Given the description of an element on the screen output the (x, y) to click on. 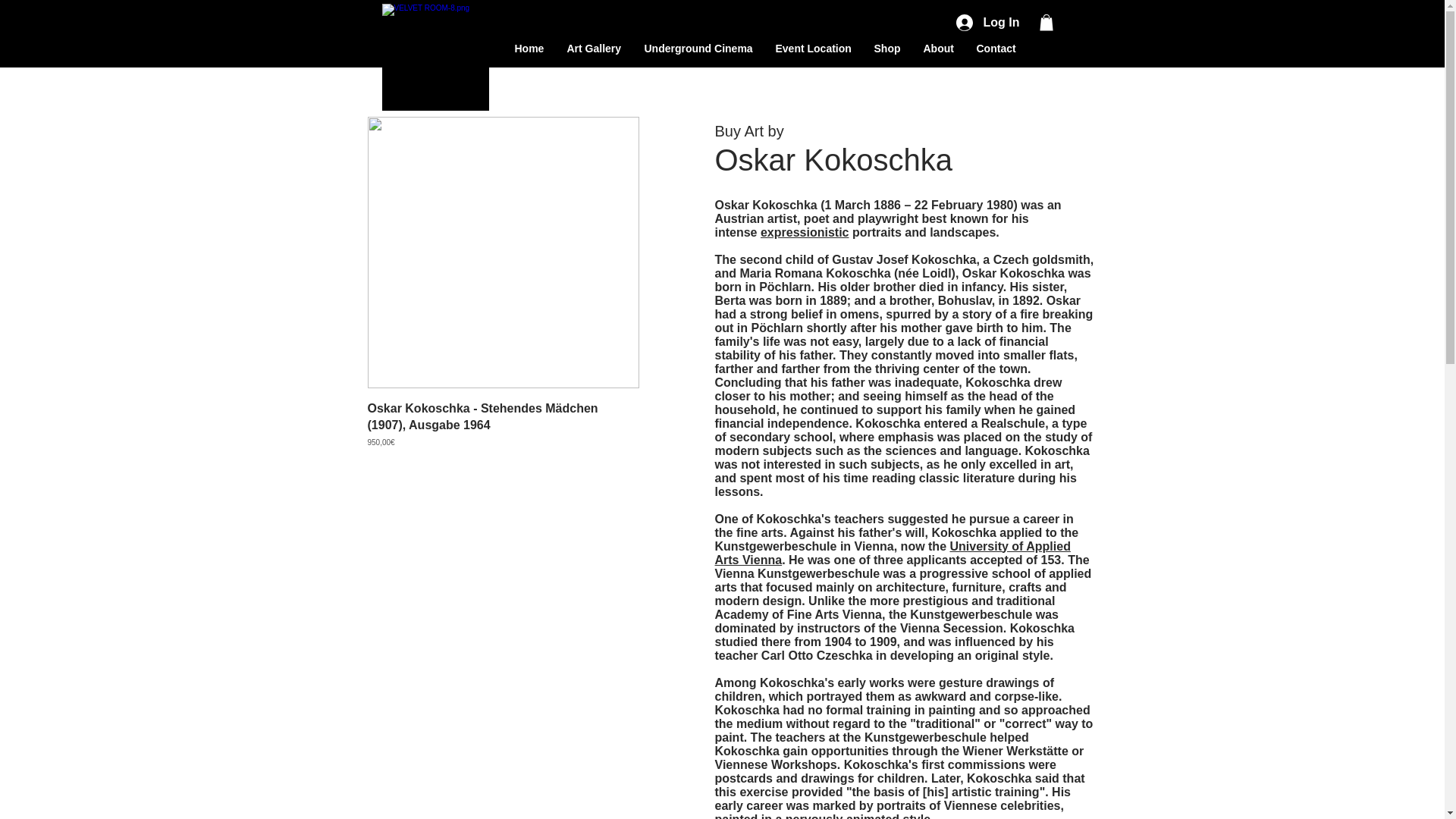
Shop (887, 47)
Home (529, 47)
Event Location (813, 47)
Underground Cinema (696, 47)
VELVET ROOM-2.png (435, 56)
University of Applied Arts Vienna (892, 552)
Art Gallery (592, 47)
Contact (994, 47)
expressionistic (804, 232)
Log In (985, 22)
